Given the description of an element on the screen output the (x, y) to click on. 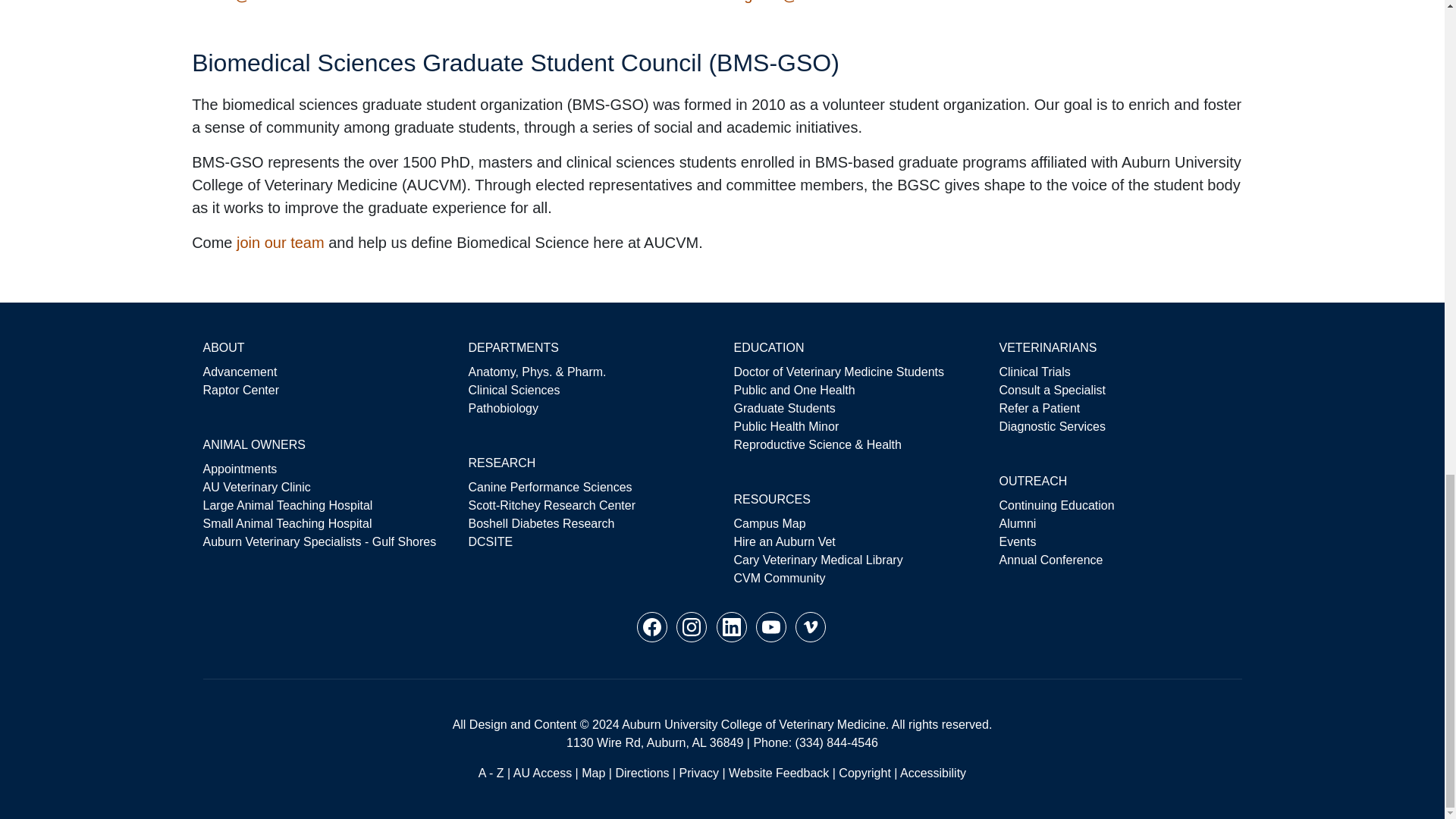
ABOUT (223, 347)
join our team (279, 242)
